Given the description of an element on the screen output the (x, y) to click on. 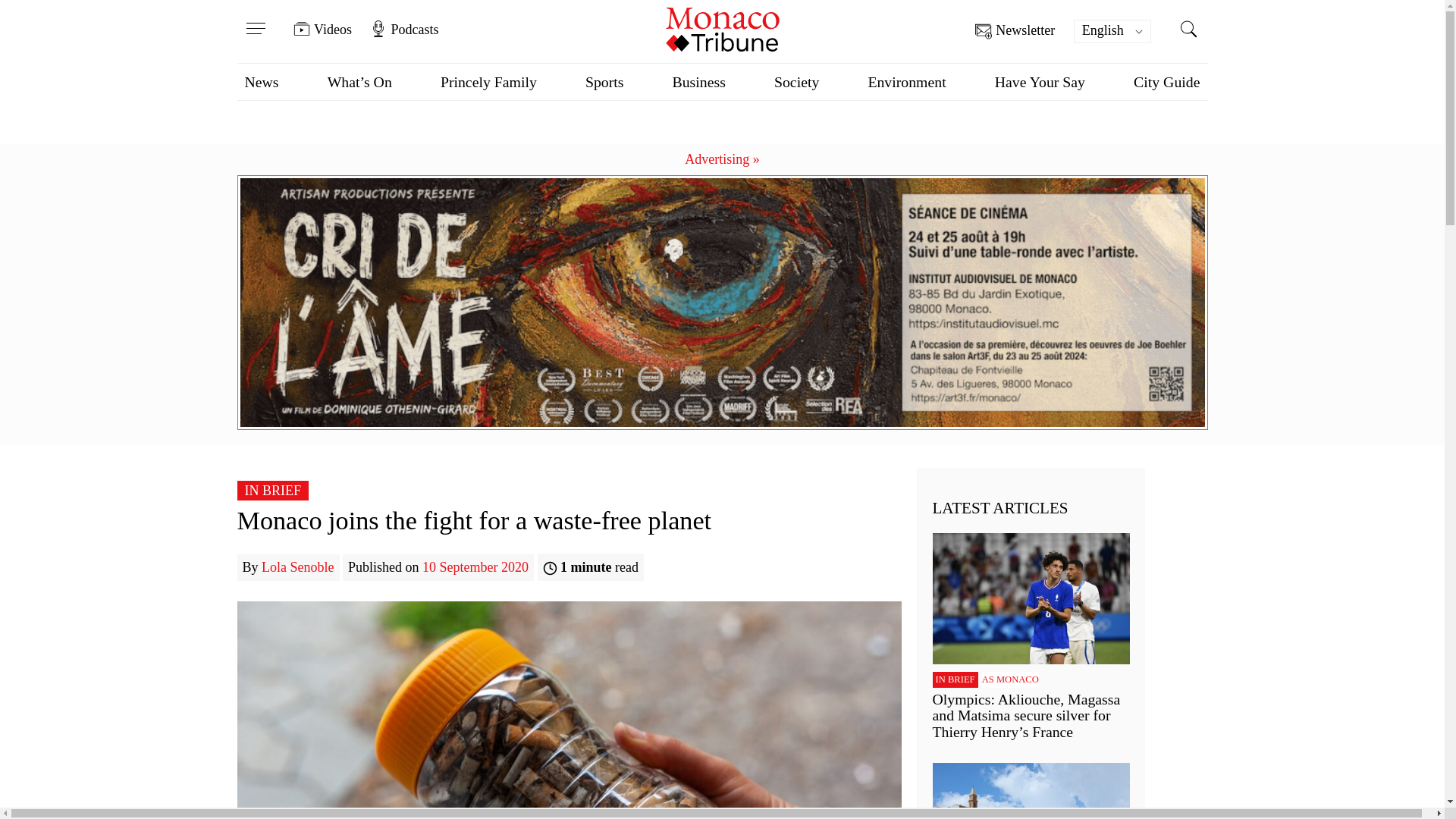
Newsletter (1014, 31)
Podcasts (403, 28)
English (1112, 31)
Videos (323, 28)
